Given the description of an element on the screen output the (x, y) to click on. 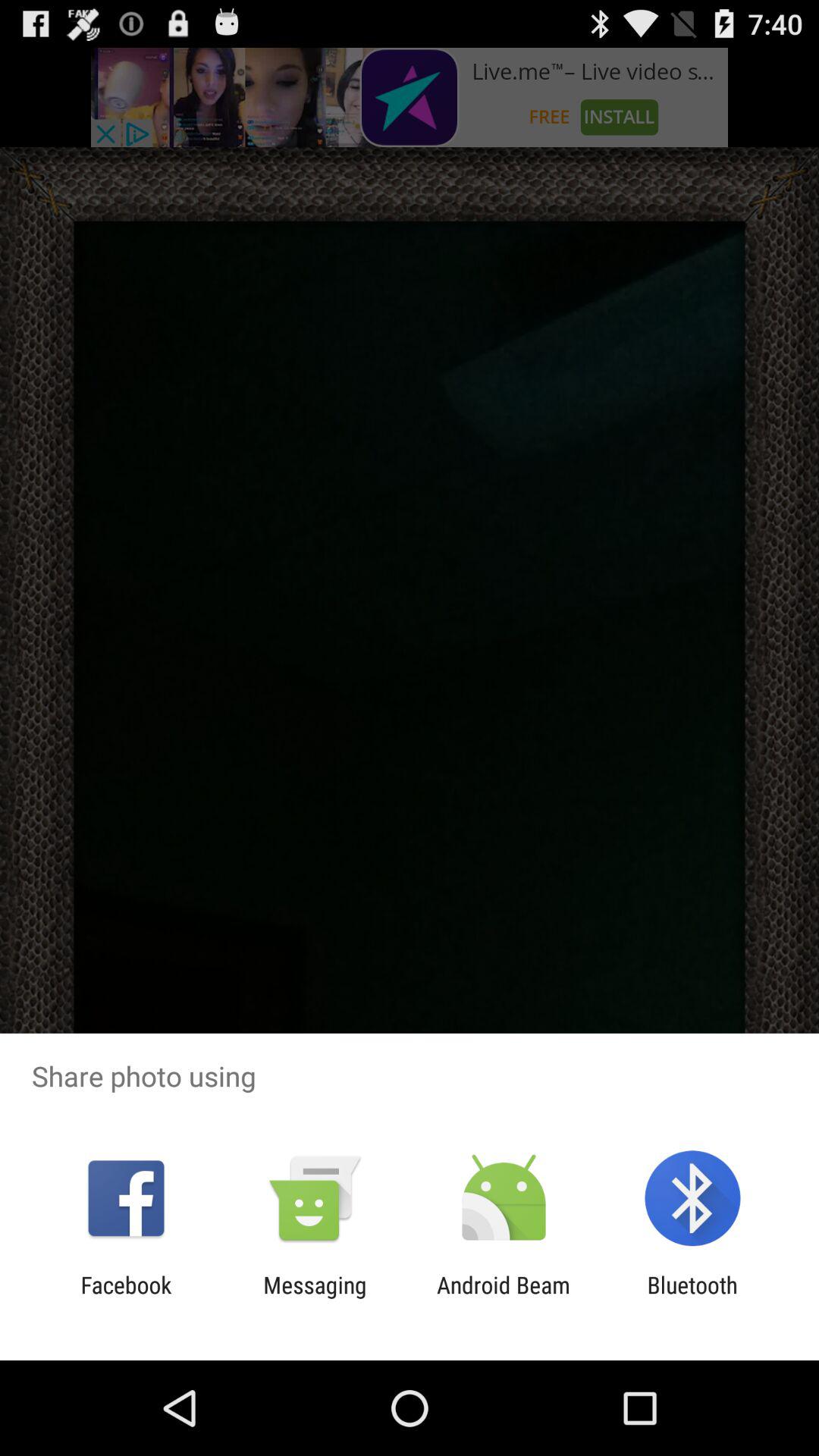
turn off app next to messaging item (125, 1298)
